Given the description of an element on the screen output the (x, y) to click on. 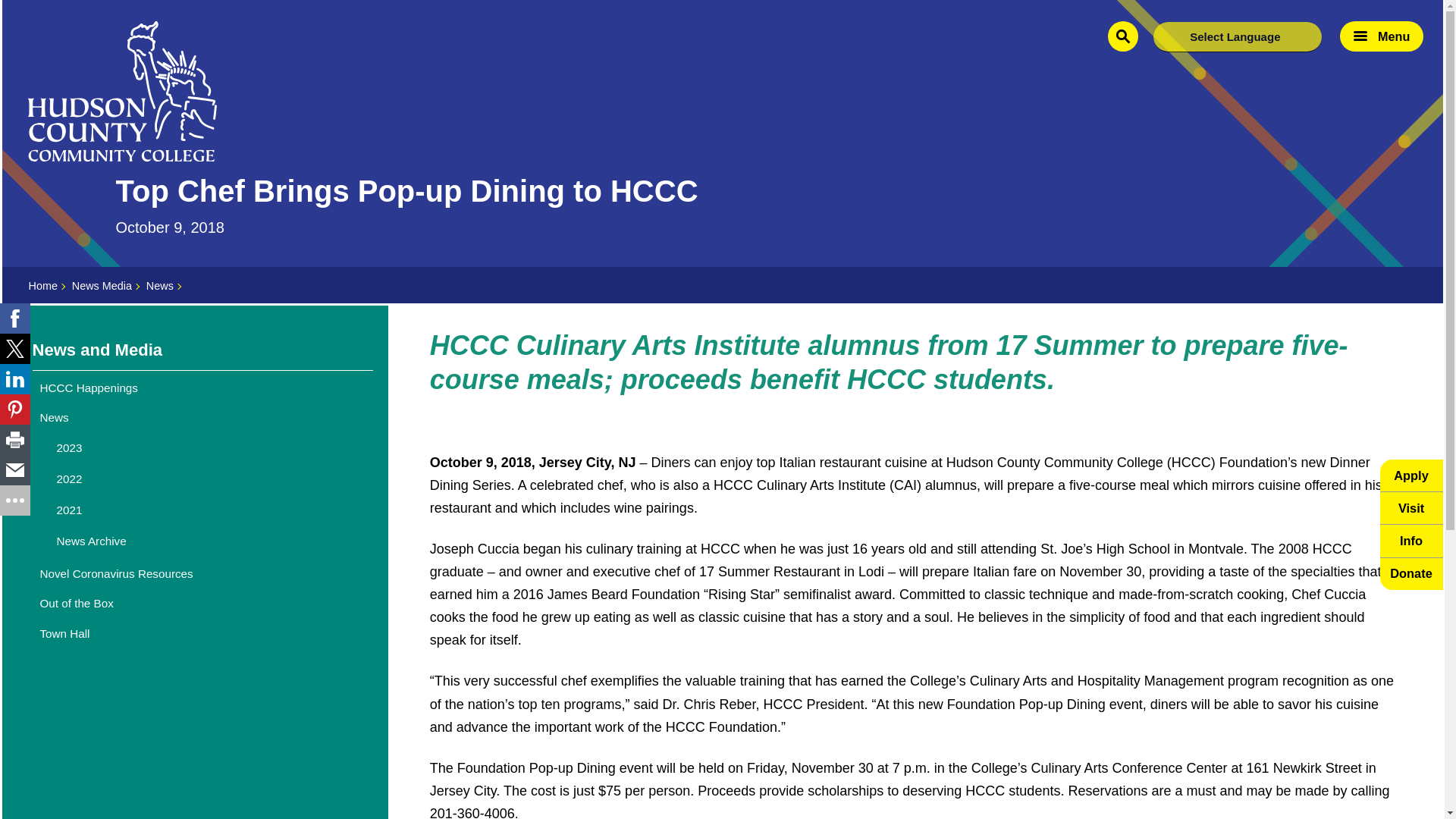
Email (15, 470)
Hudson County Community College Logo (121, 91)
Print (15, 440)
Share this link on Facebook (15, 318)
Share this link on Pinterest (15, 409)
Menu (1381, 36)
search (1123, 36)
Share this link on X (15, 348)
Share this link on Linkedin (15, 378)
More sharing options (15, 500)
